Given the description of an element on the screen output the (x, y) to click on. 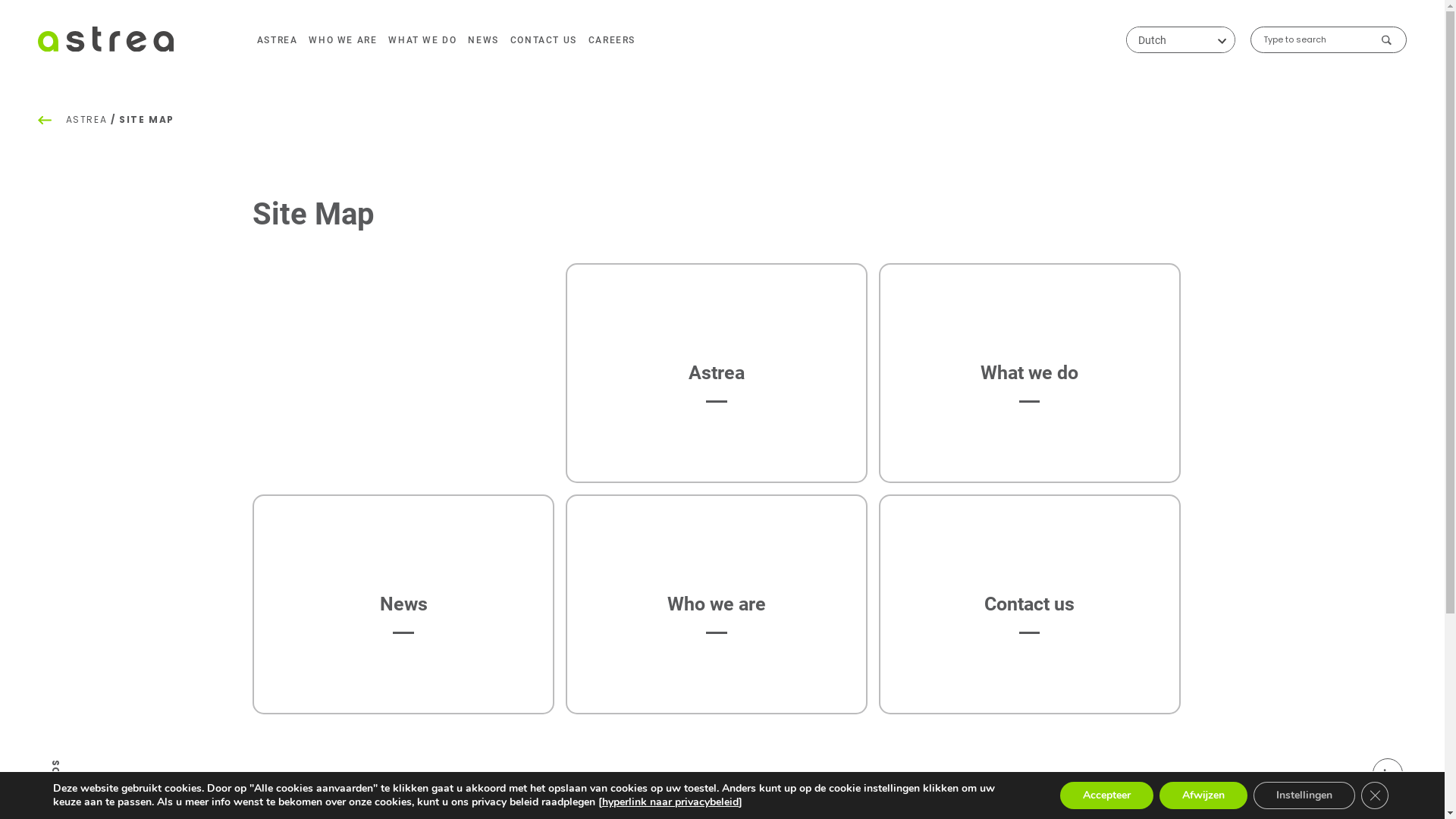
hyperlink naar privacybeleid Element type: text (670, 801)
Instellingen Element type: text (1304, 795)
What we do Element type: text (1029, 373)
Dutch Element type: text (1180, 39)
NEWS Element type: text (482, 39)
WHAT WE DO Element type: text (422, 39)
Afwijzen Element type: text (1203, 795)
Accepteer Element type: text (1106, 795)
News Element type: text (403, 604)
Who we are Element type: text (716, 604)
Sluit GDPR (AVG) cookie banner Element type: text (1374, 795)
CAREERS Element type: text (611, 39)
Astrea Element type: text (716, 373)
WHO WE ARE Element type: text (342, 39)
Contact us Element type: text (1029, 604)
ASTREA Element type: text (277, 39)
CONTACT US Element type: text (543, 39)
